Given the description of an element on the screen output the (x, y) to click on. 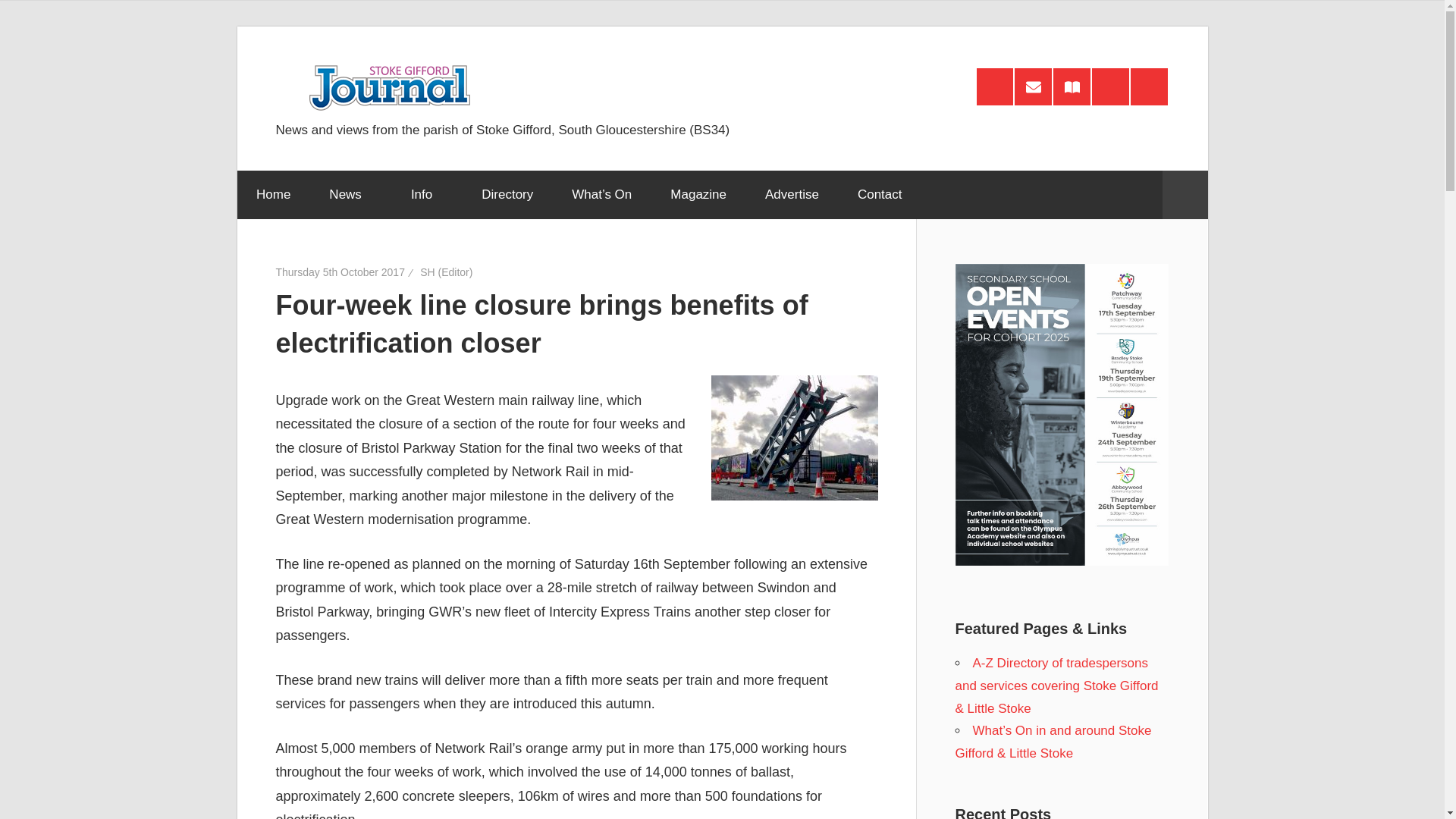
Read the Stoke Gifford Journal magazine online (1071, 86)
RSS news feed of the Stoke Gifford Journal (994, 86)
Get the Stoke Gifford Journal delivered by email (1032, 86)
Home (271, 194)
Subscribe by Email (1032, 86)
Info (426, 194)
Stoke Gifford Journal on Twitter (1149, 86)
New signalling gantry being installed at Bristol Parkway. (794, 437)
Facebook (1110, 86)
Feed (994, 86)
